Given the description of an element on the screen output the (x, y) to click on. 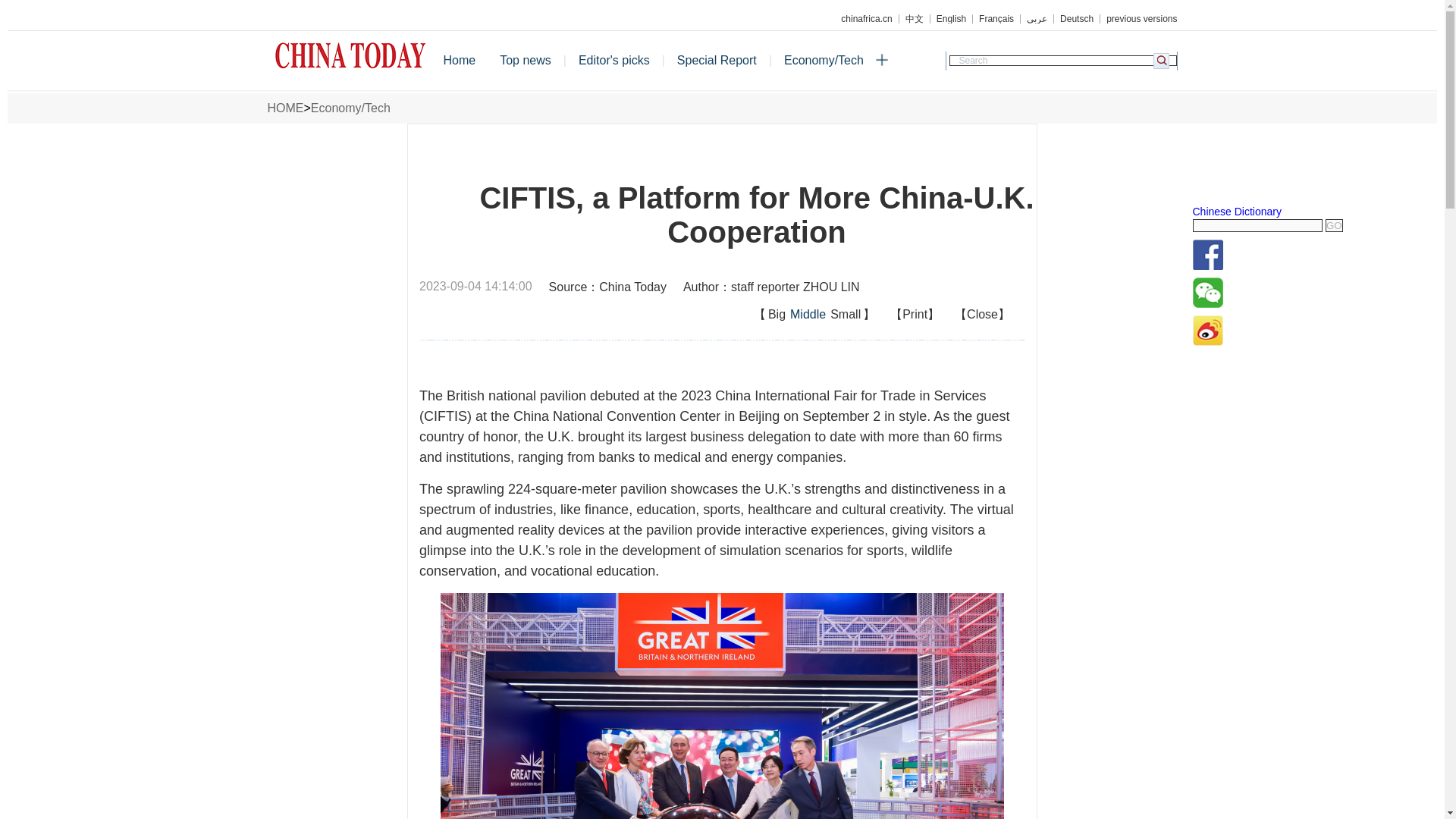
English (951, 18)
Search (1062, 60)
HOME (284, 108)
previous versions (1138, 18)
chinafrica.cn (866, 18)
Editor's picks (614, 60)
Special Report (716, 60)
Deutsch (1076, 18)
Home (458, 60)
Top news (525, 60)
GO (1333, 225)
